Given the description of an element on the screen output the (x, y) to click on. 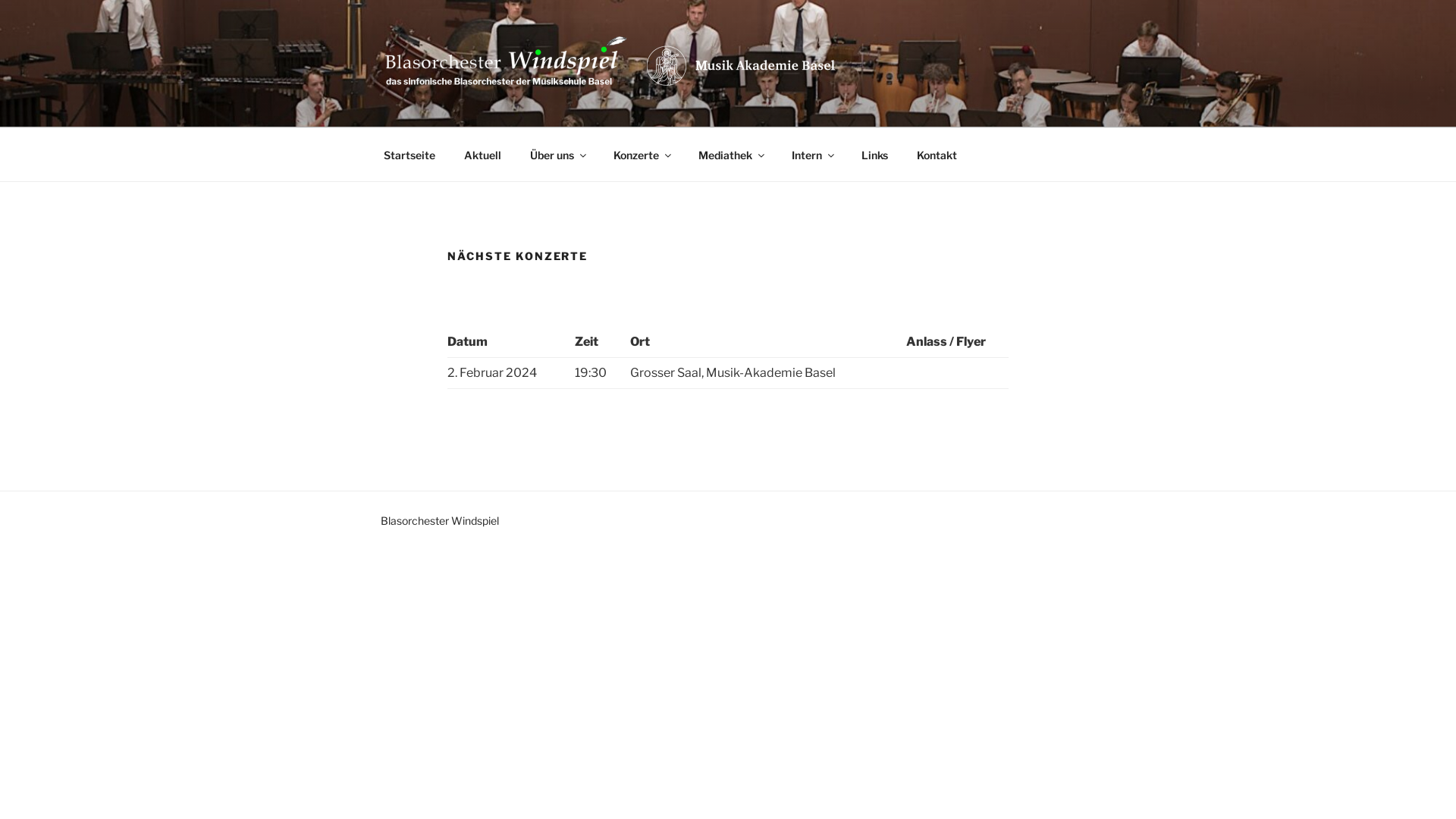
Links Element type: text (873, 154)
Startseite Element type: text (409, 154)
Konzerte Element type: text (640, 154)
Mediathek Element type: text (729, 154)
Kontakt Element type: text (936, 154)
Aktuell Element type: text (482, 154)
WINDSPIEL Element type: text (476, 107)
Blasorchester Windspiel Element type: text (439, 520)
Intern Element type: text (811, 154)
